Given the description of an element on the screen output the (x, y) to click on. 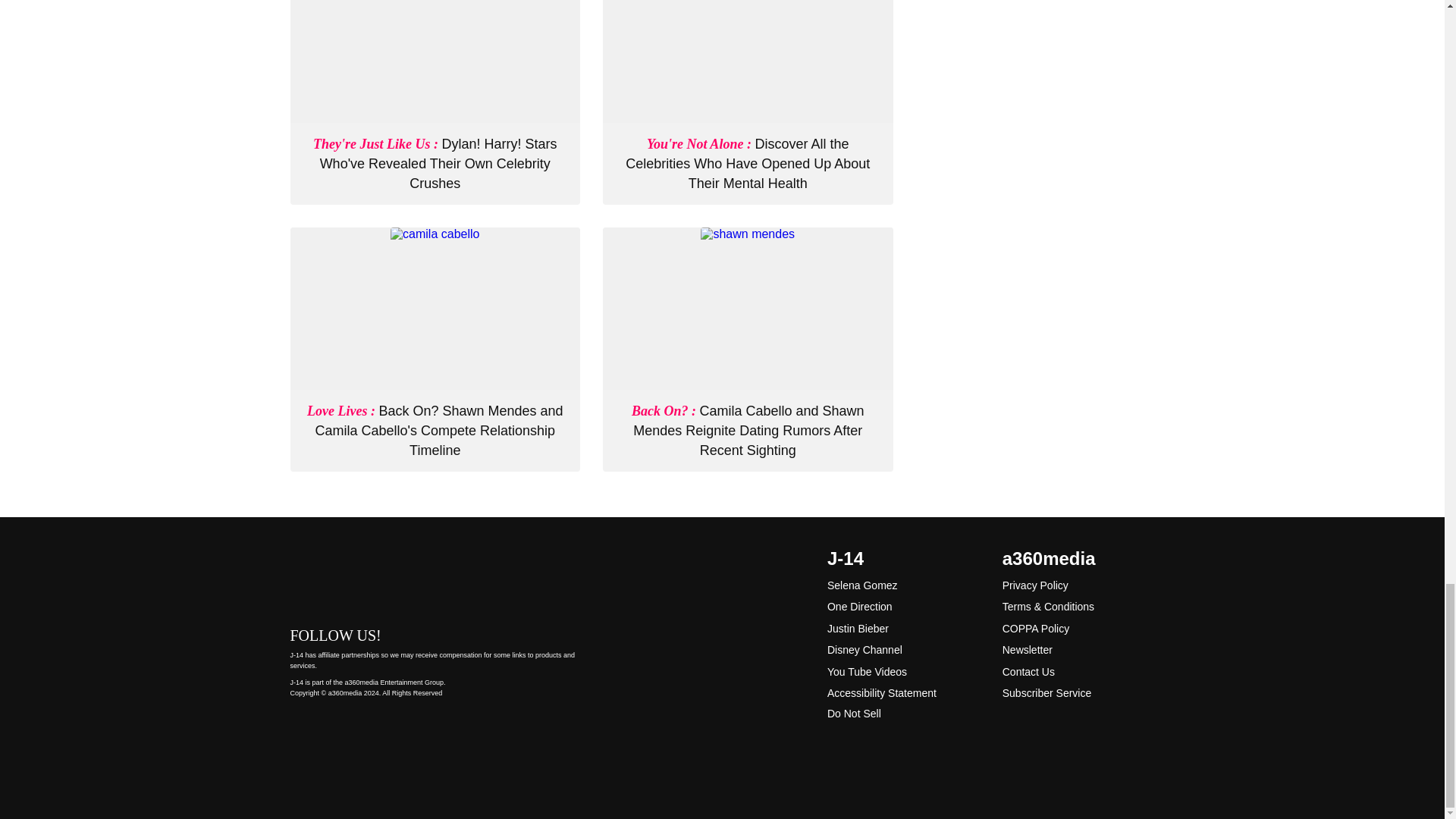
Home (434, 576)
